Given the description of an element on the screen output the (x, y) to click on. 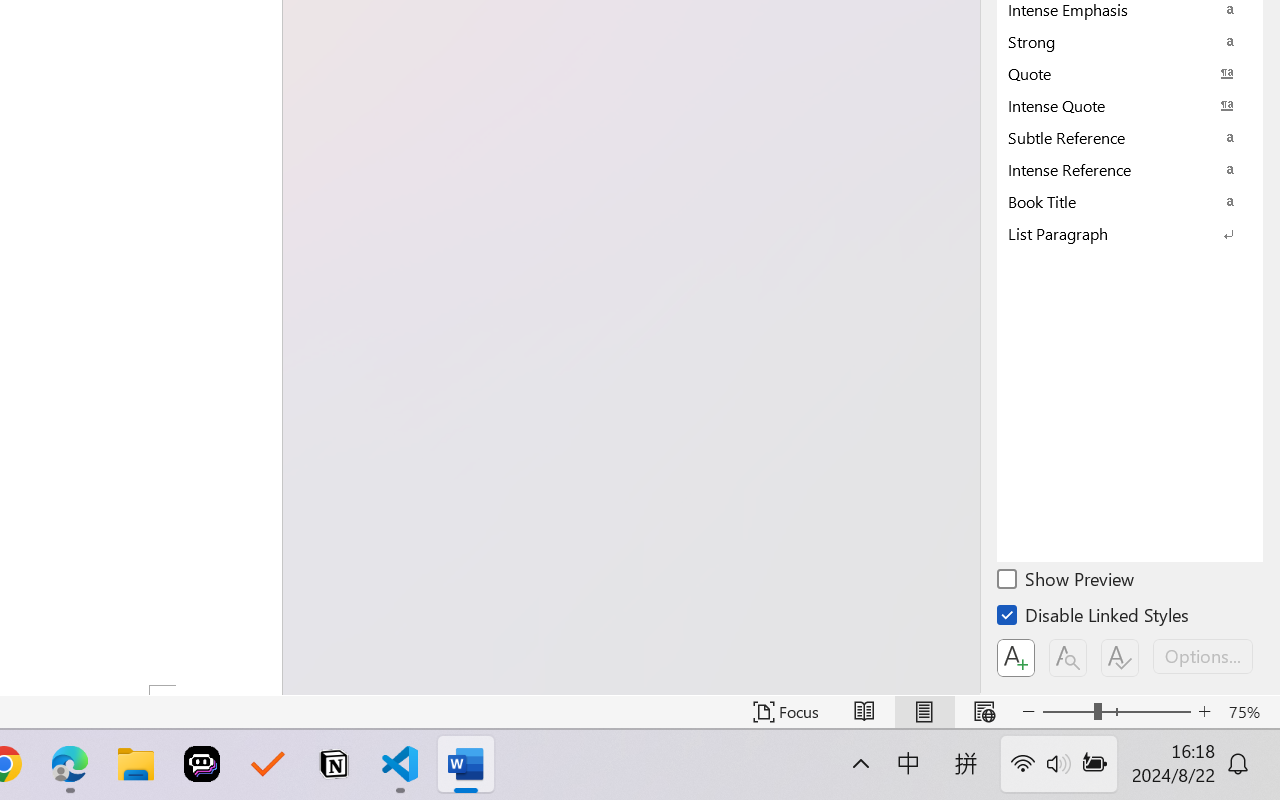
Options... (1203, 656)
Intense Reference (1130, 169)
Zoom 75% (1249, 712)
Show Preview (1067, 582)
Disable Linked Styles (1094, 618)
Quote (1130, 73)
Intense Quote (1130, 105)
List Paragraph (1130, 233)
Subtle Reference (1130, 137)
Class: NetUIButton (1119, 657)
